Given the description of an element on the screen output the (x, y) to click on. 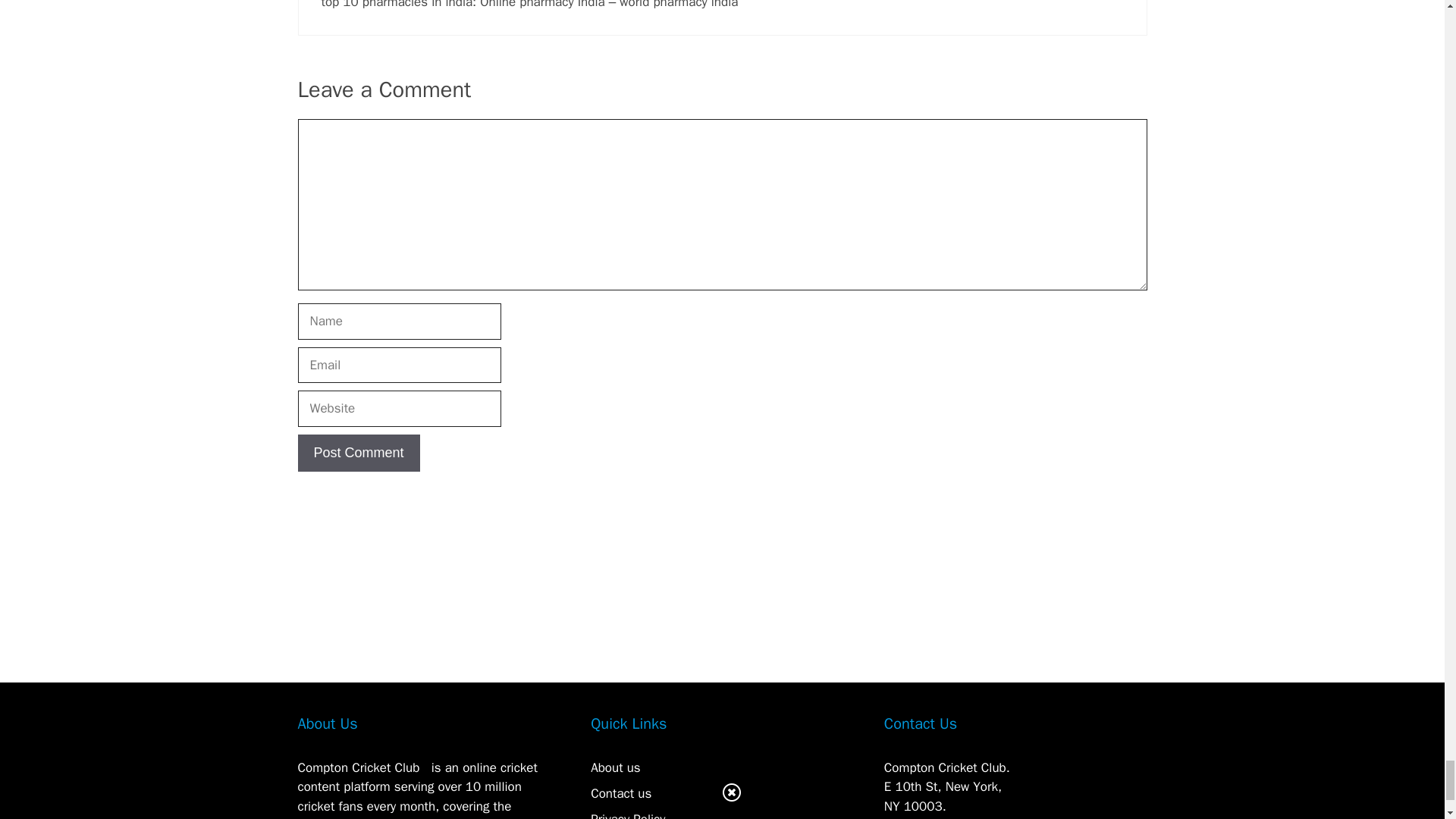
Post Comment (358, 452)
